Given the description of an element on the screen output the (x, y) to click on. 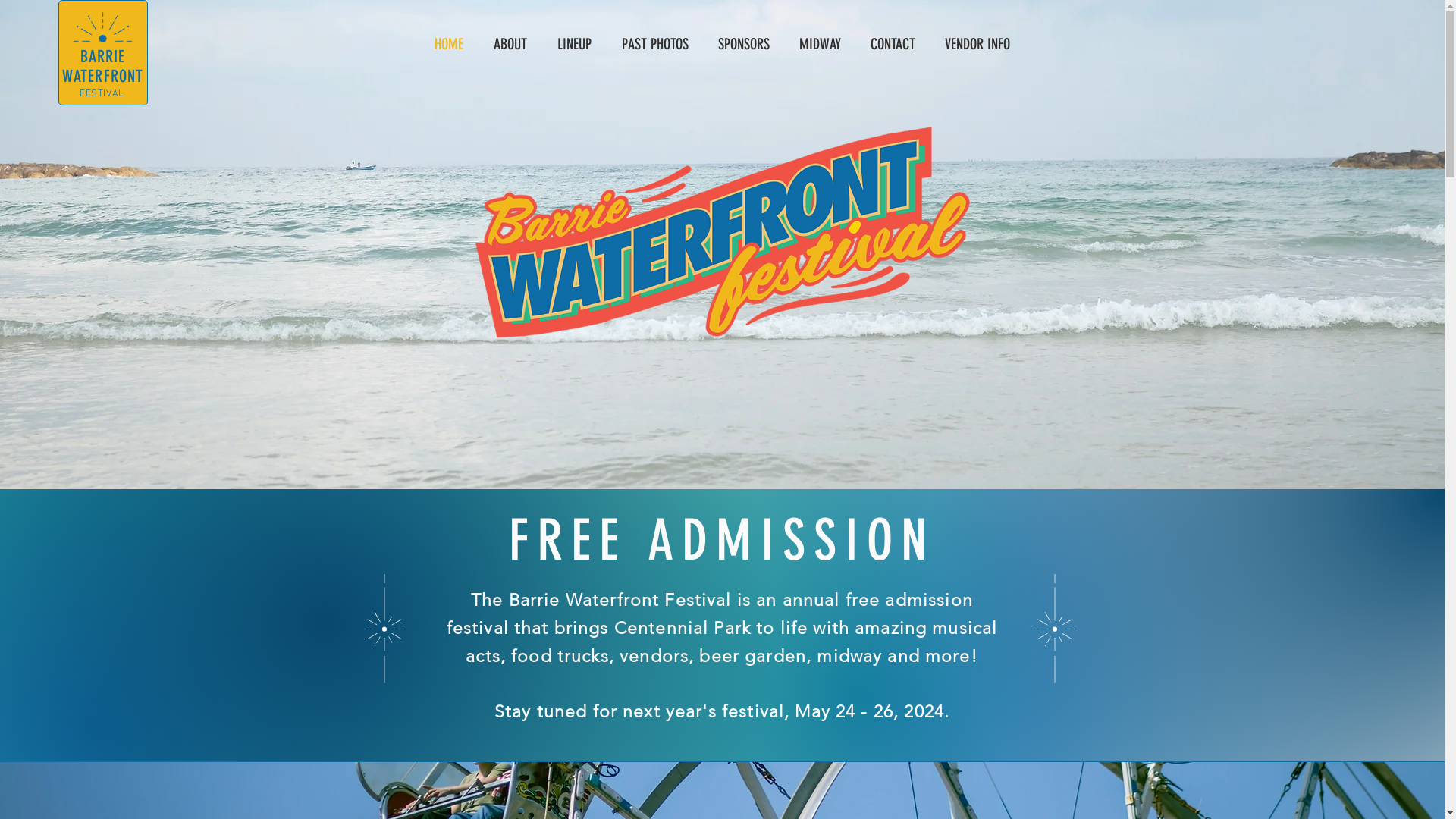
HOME Element type: text (447, 43)
CONTACT Element type: text (892, 43)
ABOUT Element type: text (509, 43)
LINEUP Element type: text (573, 43)
VENDOR INFO Element type: text (976, 43)
SPONSORS Element type: text (743, 43)
MIDWAY Element type: text (819, 43)
PAST PHOTOS Element type: text (654, 43)
BARRIE WATERFRONT Element type: text (102, 66)
FESTIVAL Element type: text (101, 93)
